Given the description of an element on the screen output the (x, y) to click on. 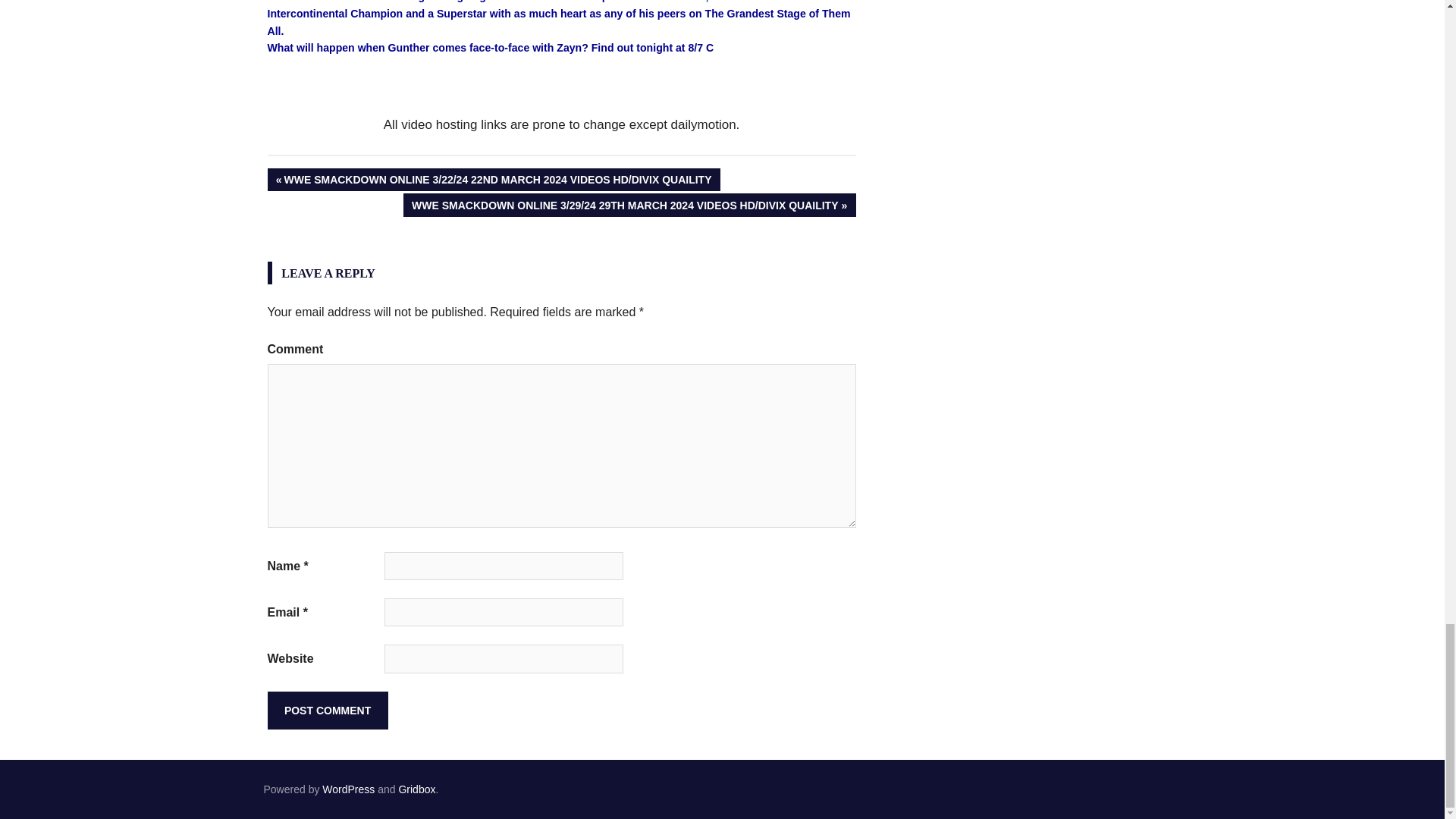
Post Comment (326, 710)
Post Comment (326, 710)
WordPress (347, 788)
Gridbox WordPress Theme (416, 788)
Gridbox (416, 788)
WordPress (347, 788)
